Given the description of an element on the screen output the (x, y) to click on. 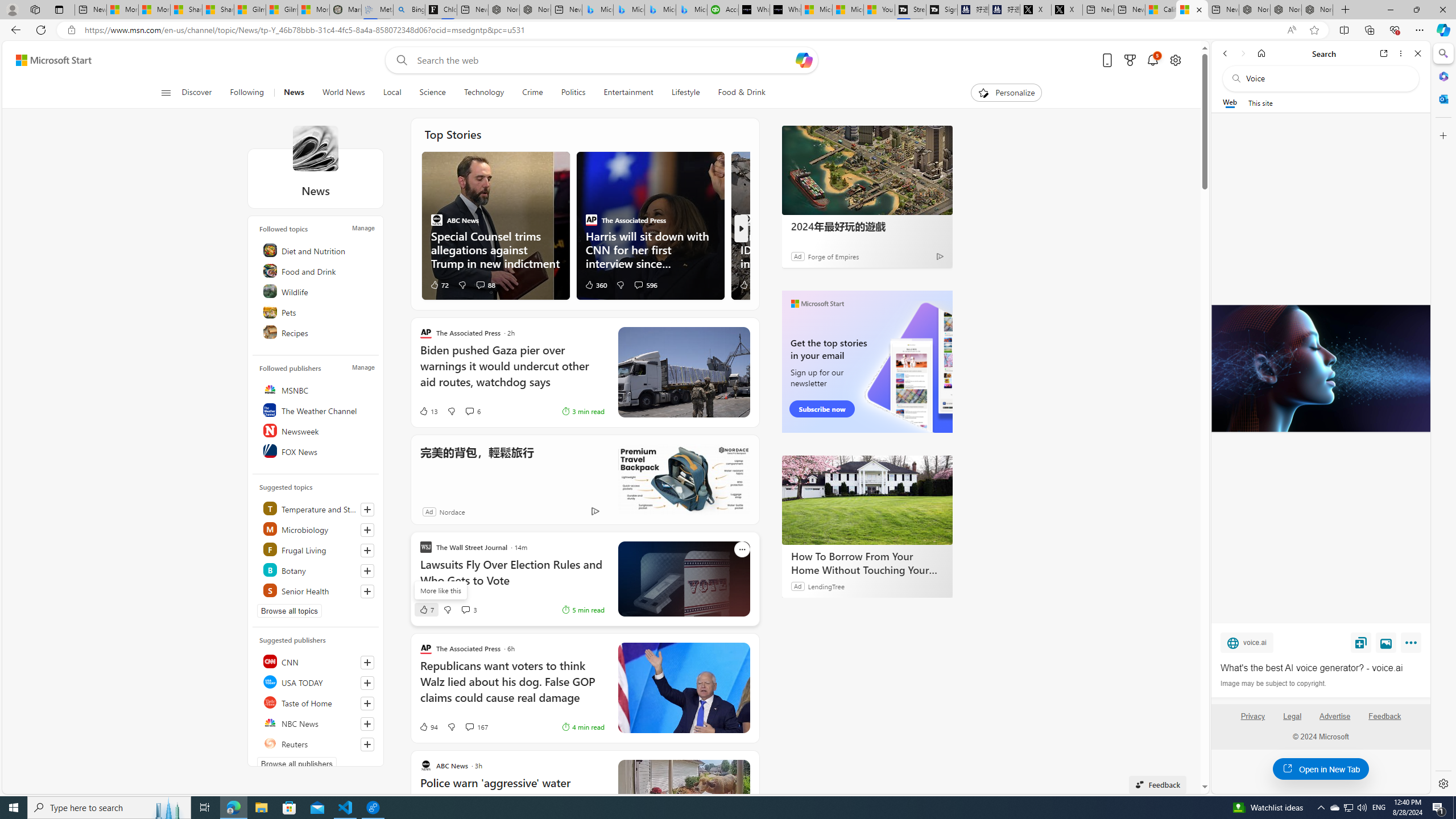
Gilma and Hector both pose tropical trouble for Hawaii (281, 9)
Local (392, 92)
Legal (1292, 720)
Lawsuits Fly Over Election Rules and Who Gets to Vote (511, 578)
Politics (572, 92)
View comments 6 Comment (469, 411)
Web search (398, 60)
Forward (1242, 53)
